Given the description of an element on the screen output the (x, y) to click on. 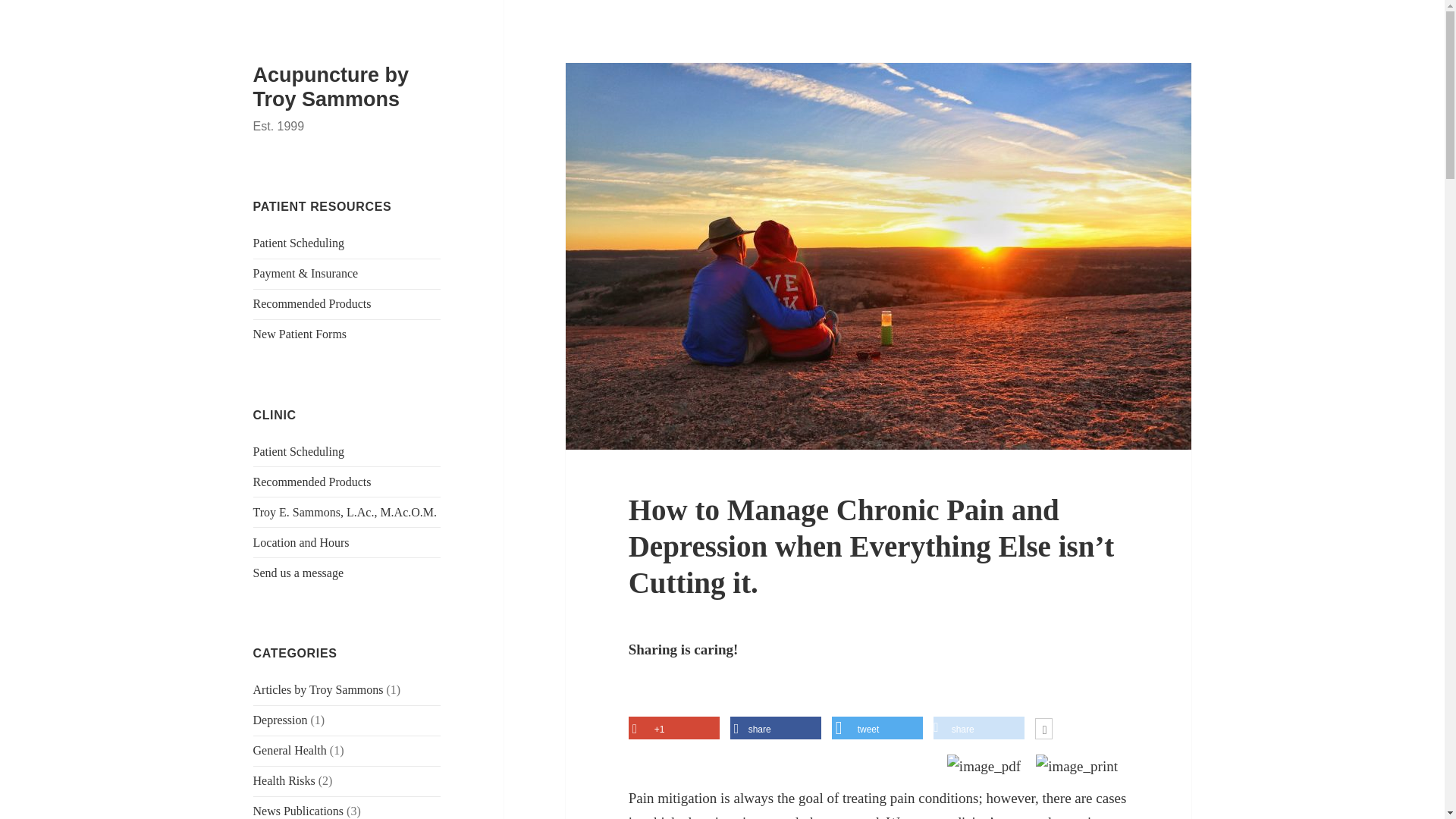
Acupuncture by Troy Sammons (331, 86)
Print Content (1076, 766)
Health Risks (284, 780)
Patient Scheduling (298, 451)
Patient Scheduling (298, 242)
share (775, 729)
Send us a message (298, 572)
Troy E. Sammons, L.Ac., M.Ac.O.M. (345, 512)
tweet (877, 729)
Articles by Troy Sammons (318, 689)
